Given the description of an element on the screen output the (x, y) to click on. 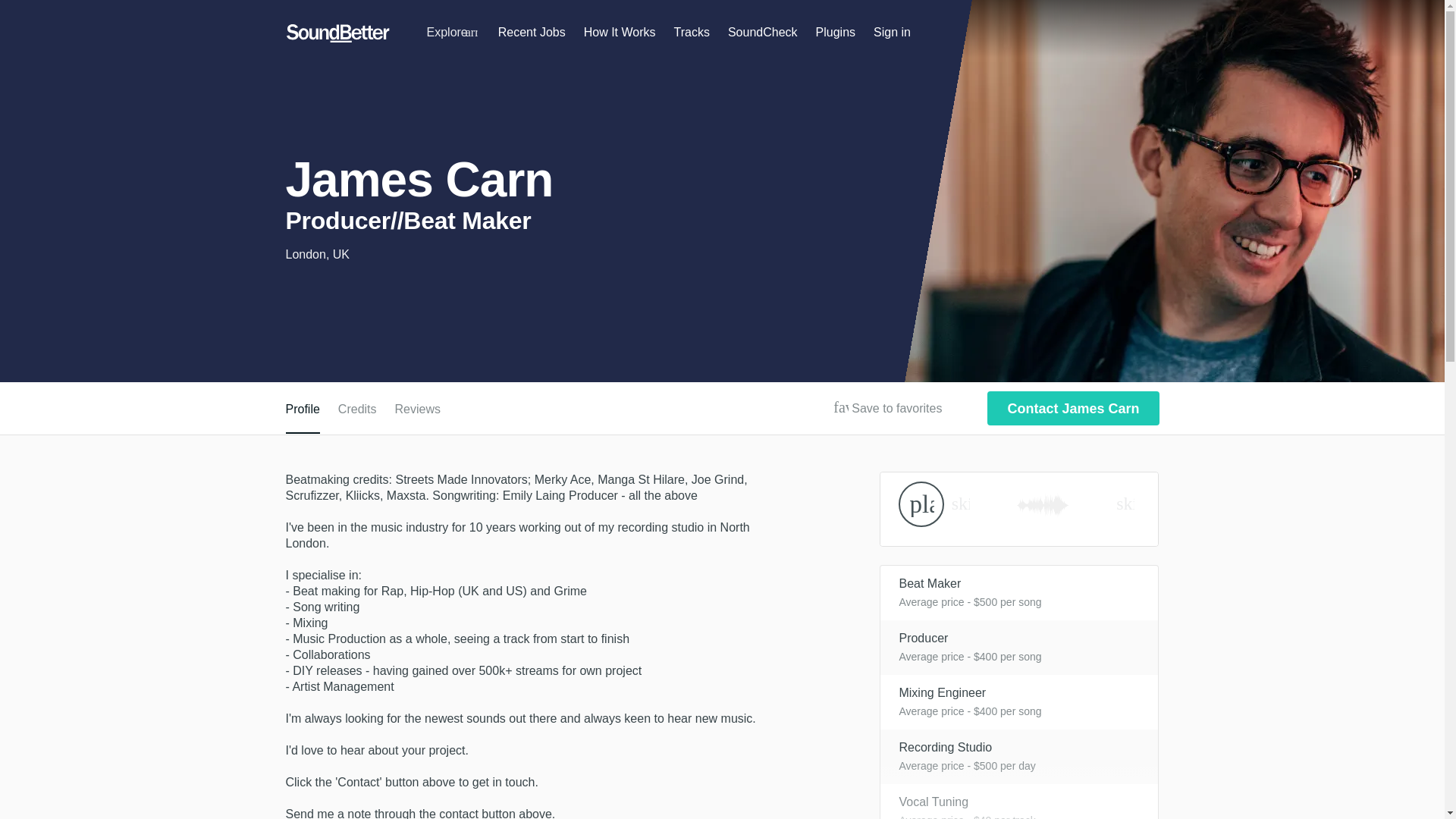
SoundBetter (337, 33)
